Given the description of an element on the screen output the (x, y) to click on. 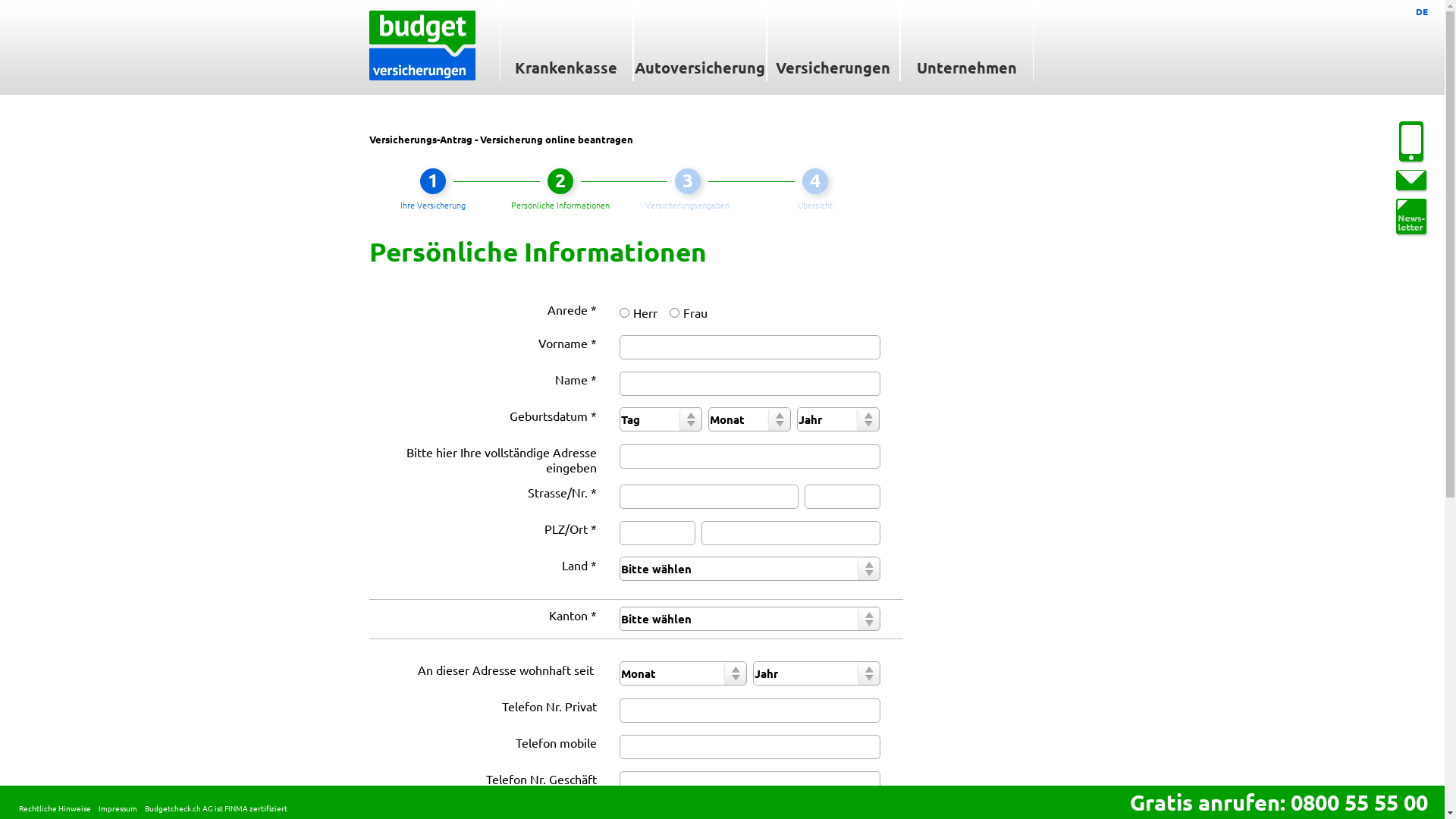
Impressum Element type: text (117, 807)
Budgetcheck.ch AG ist FINMA zertifiziert Element type: text (215, 807)
Autoversicherung Element type: text (698, 40)
DE Element type: text (1421, 11)
Unternehmen Element type: text (965, 40)
Rechtliche Hinweise Element type: text (54, 807)
Krankenkasse Element type: text (565, 40)
Versicherungen Element type: text (832, 40)
